Given the description of an element on the screen output the (x, y) to click on. 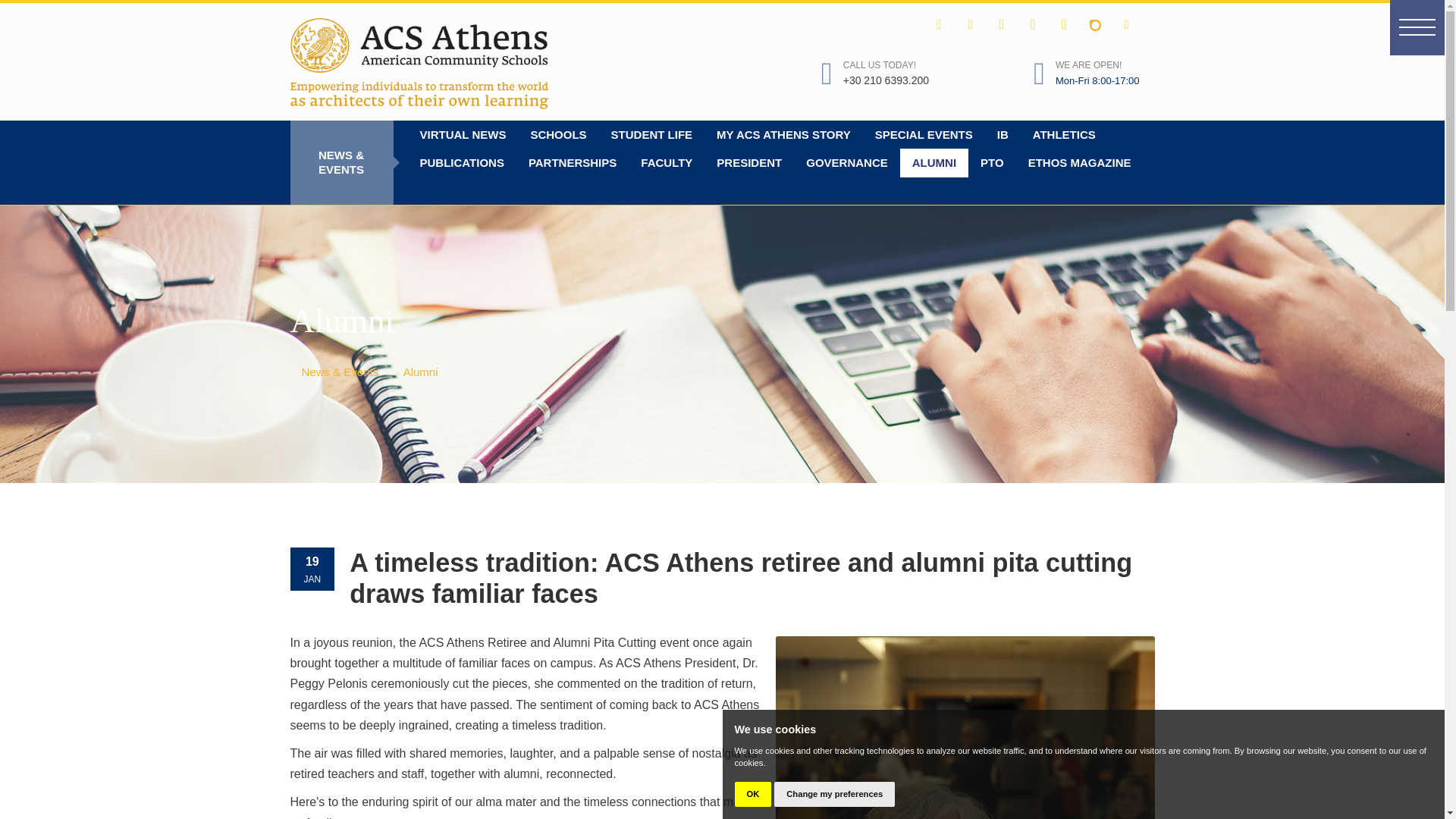
OK (752, 794)
Change my preferences (834, 794)
